Given the description of an element on the screen output the (x, y) to click on. 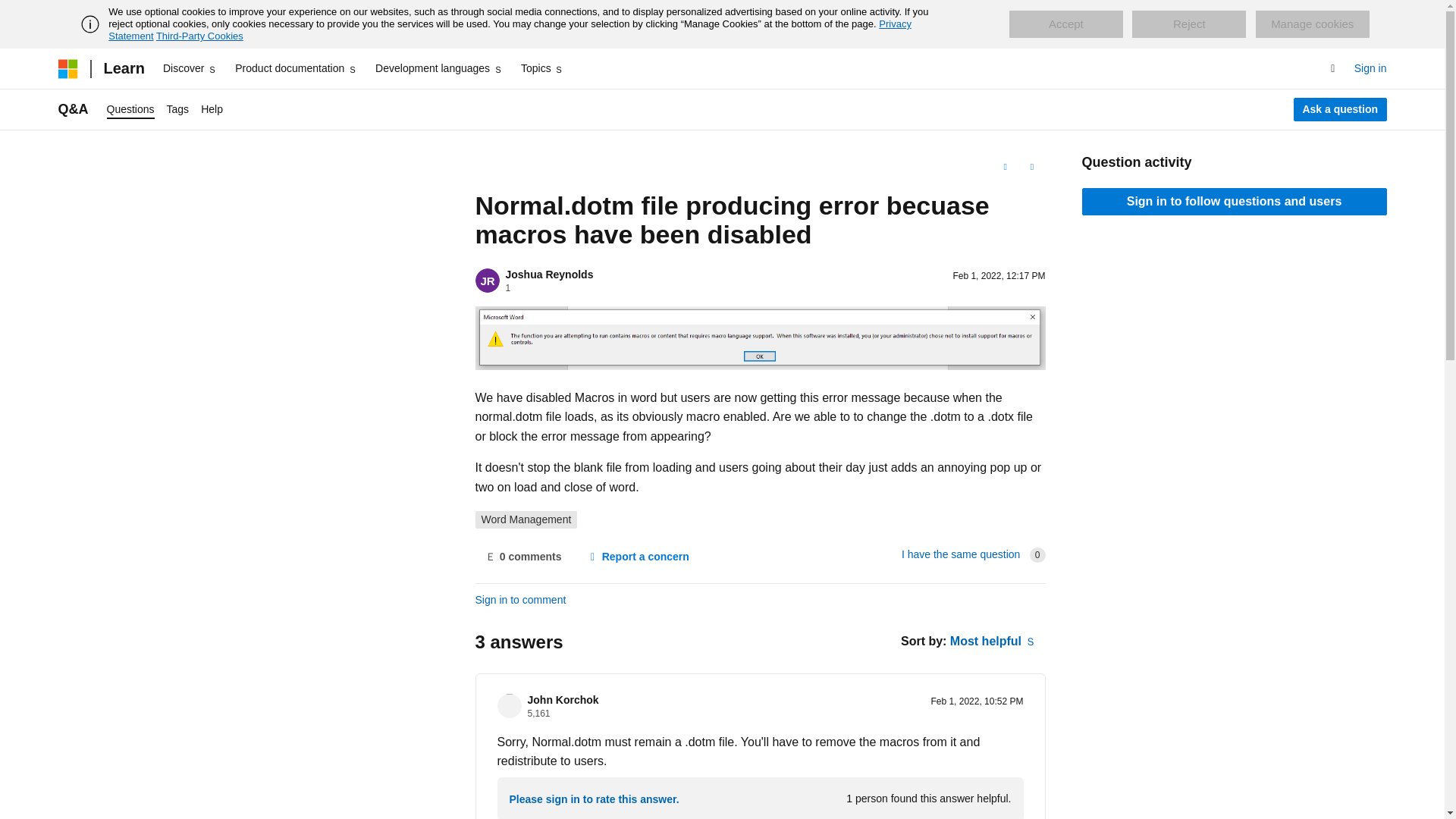
Third-Party Cookies (199, 35)
Reputation points (538, 713)
Accept (1065, 23)
Joshua Reynolds (548, 274)
Report a concern (637, 556)
Questions (130, 109)
Manage cookies (1312, 23)
Product documentation (295, 68)
No comments (522, 556)
Reject (1189, 23)
Topics (542, 68)
Learn (123, 68)
Sign in (1370, 68)
Discover (189, 68)
Skip to main content (11, 11)
